Given the description of an element on the screen output the (x, y) to click on. 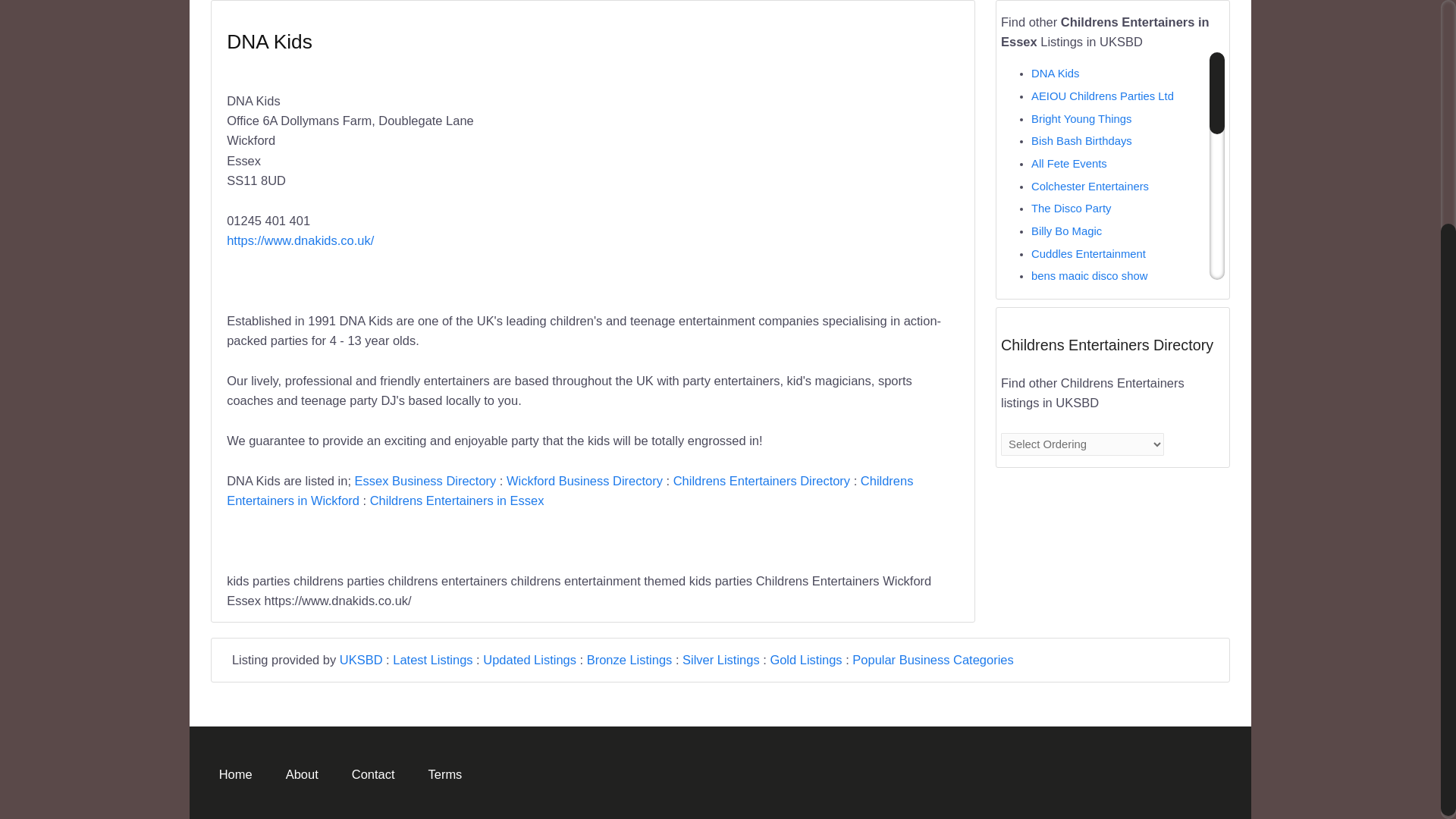
Buzzin Ceramics (1072, 433)
The Party Belles (1071, 456)
Beatbox Kids Disco and Magic Show (1106, 512)
bens magic disco show (1088, 275)
Just Like Mummy Girls Pamper Parties (1109, 354)
The Disco Party (1070, 208)
Sparkle Divas (1065, 568)
Wickford Business Directory (584, 480)
Billy Bo Magic (1066, 231)
All Fete Events (1068, 163)
UsKids (1048, 613)
Mini Monets (1061, 478)
Professor Rainbows (1081, 388)
Childrens Entertainers in Essex (456, 499)
Funky Faces UK (1072, 591)
